Given the description of an element on the screen output the (x, y) to click on. 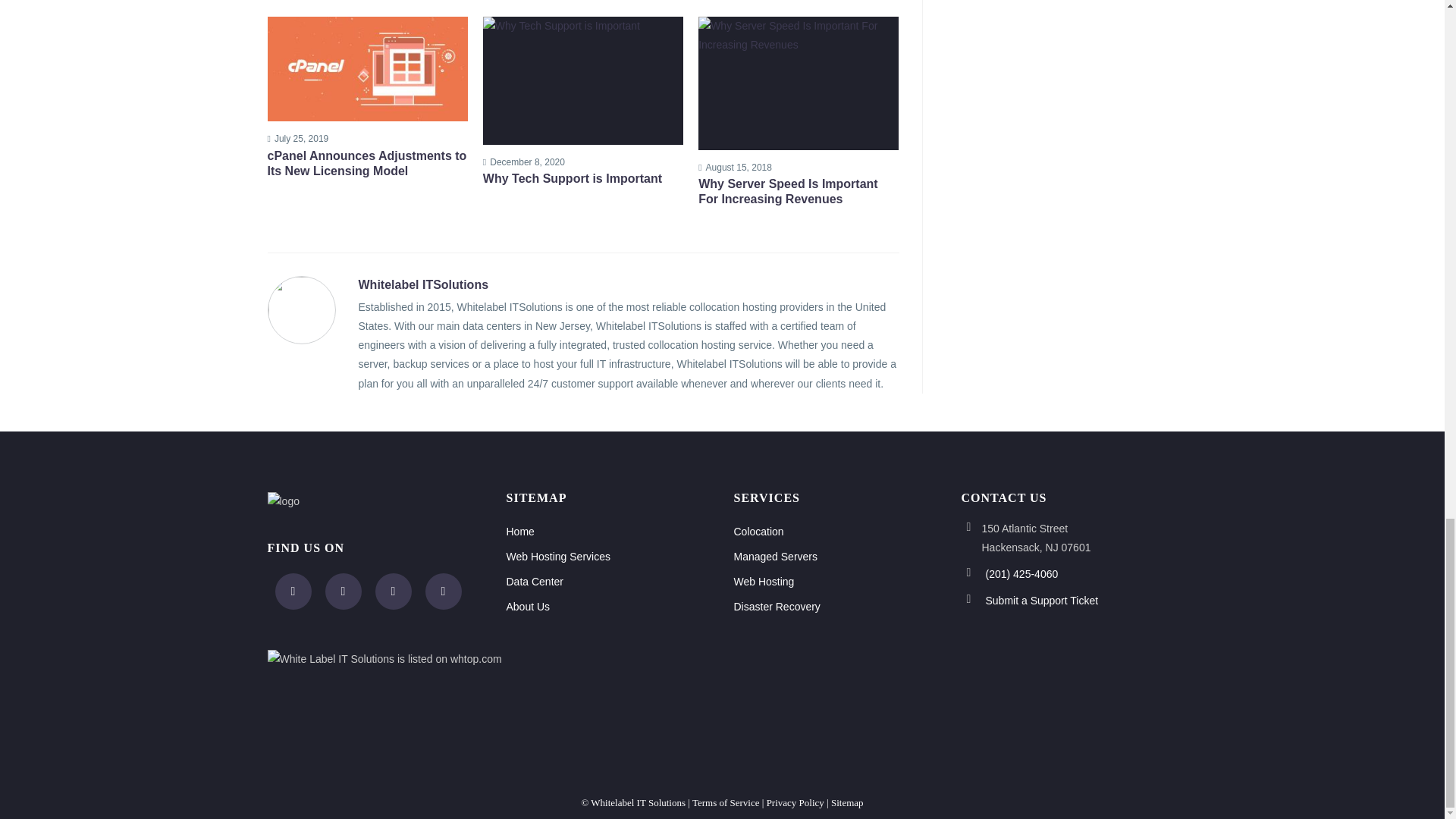
cPanel Announces Adjustments to Its New Licensing Model (366, 163)
Why Server Speed Is Important For Increasing Revenues (798, 191)
Visit Author Page (300, 309)
Why Tech Support is Important (582, 178)
Visit Author Page (422, 284)
